Given the description of an element on the screen output the (x, y) to click on. 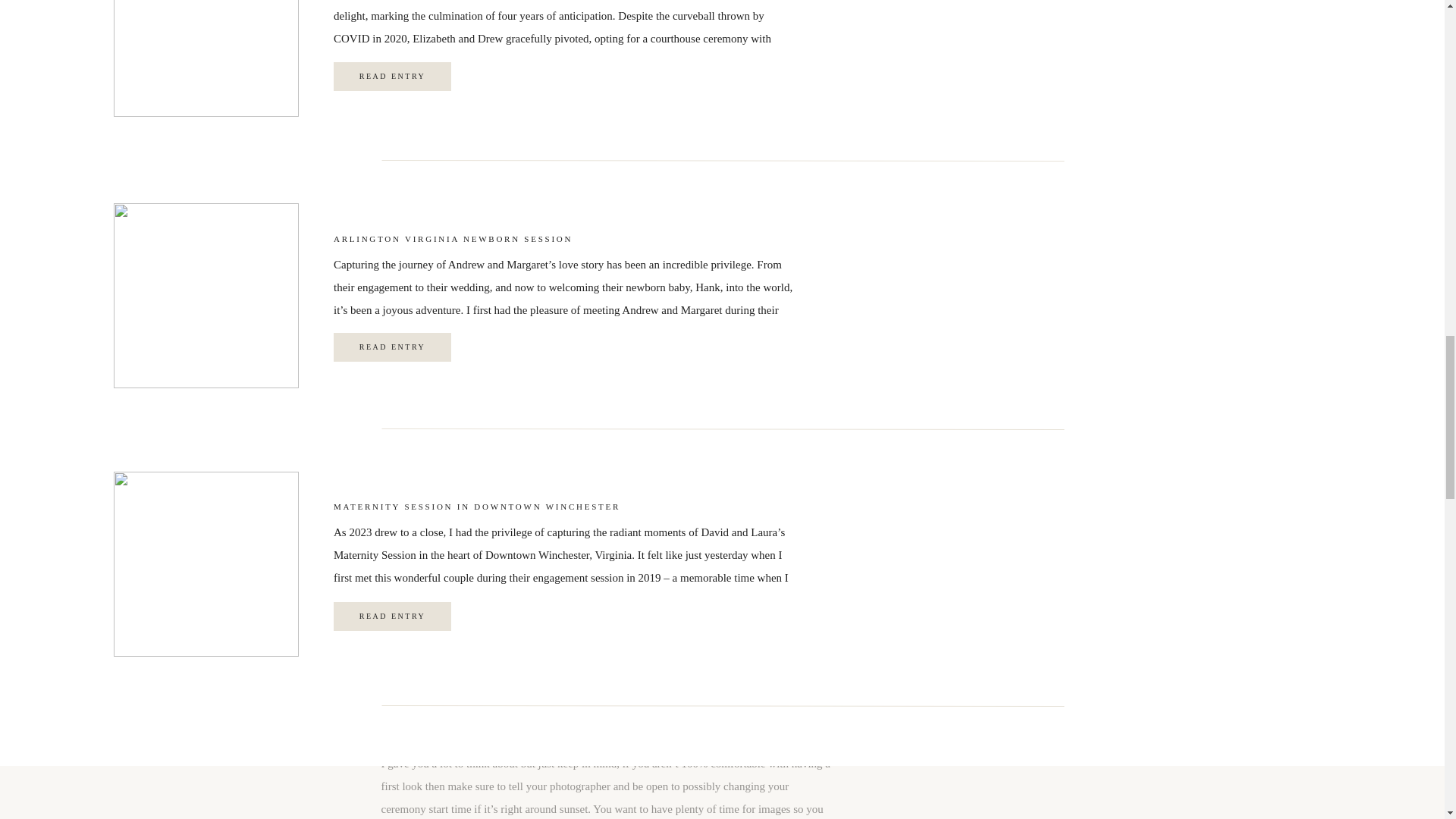
Maternity Session in Downtown Winchester (392, 615)
Chinoiserie Inspired Morais Vineyard Wedding (392, 75)
Maternity Session in Downtown Winchester (392, 615)
Maternity Session in Downtown Winchester (205, 563)
Arlington Virginia Newborn Session (205, 295)
Arlington Virginia Newborn Session (392, 346)
Chinoiserie Inspired Morais Vineyard Wedding (205, 58)
READ ENTRY (392, 75)
Arlington Virginia Newborn Session (392, 346)
Chinoiserie Inspired Morais Vineyard Wedding (392, 76)
